Given the description of an element on the screen output the (x, y) to click on. 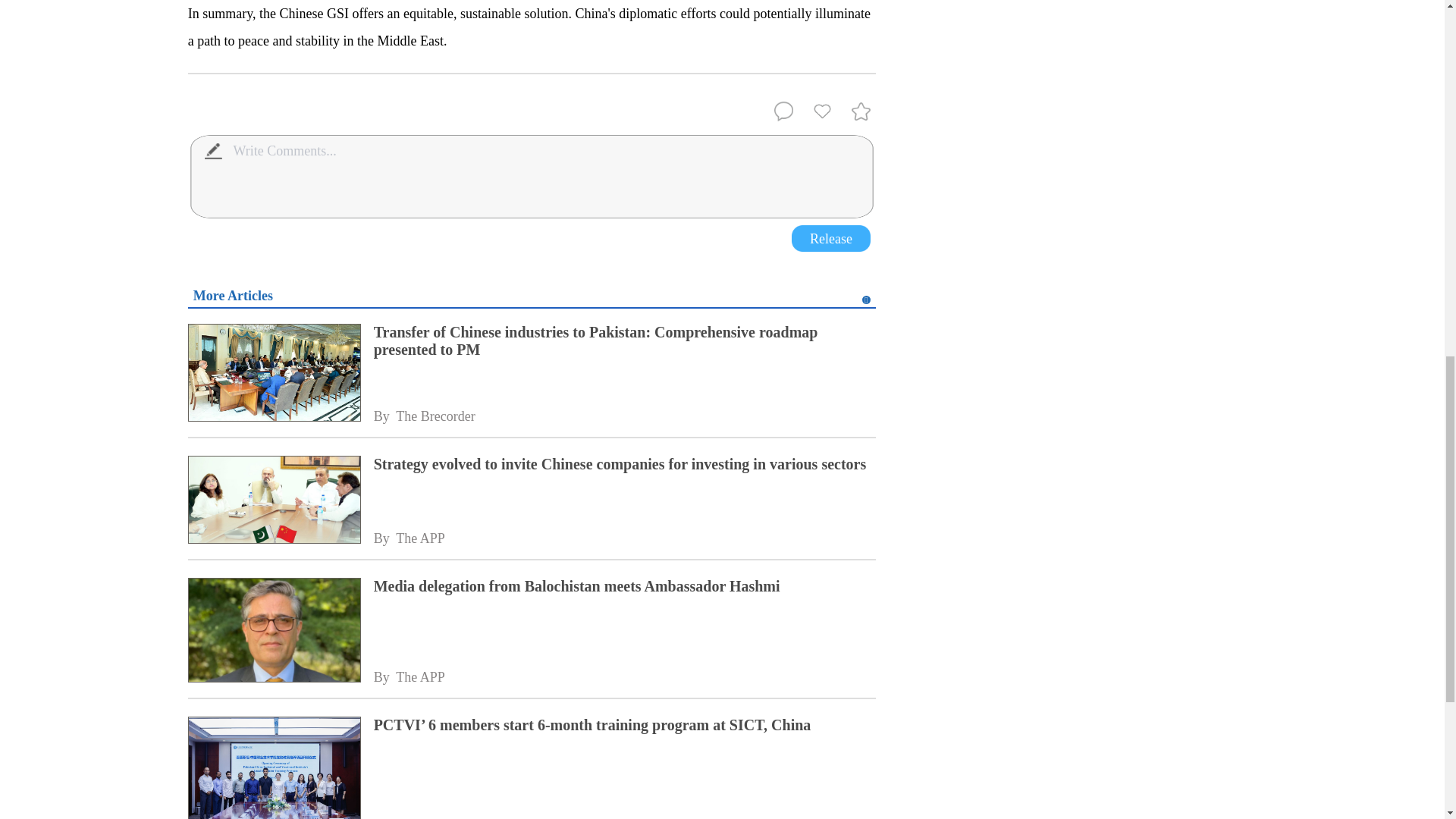
Media delegation from Balochistan meets Ambassador Hashmi (625, 586)
Media delegation from Balochistan meets Ambassador Hashmi (625, 586)
Media delegation from Balochistan meets Ambassador Hashmi (273, 631)
Release (831, 238)
